Given the description of an element on the screen output the (x, y) to click on. 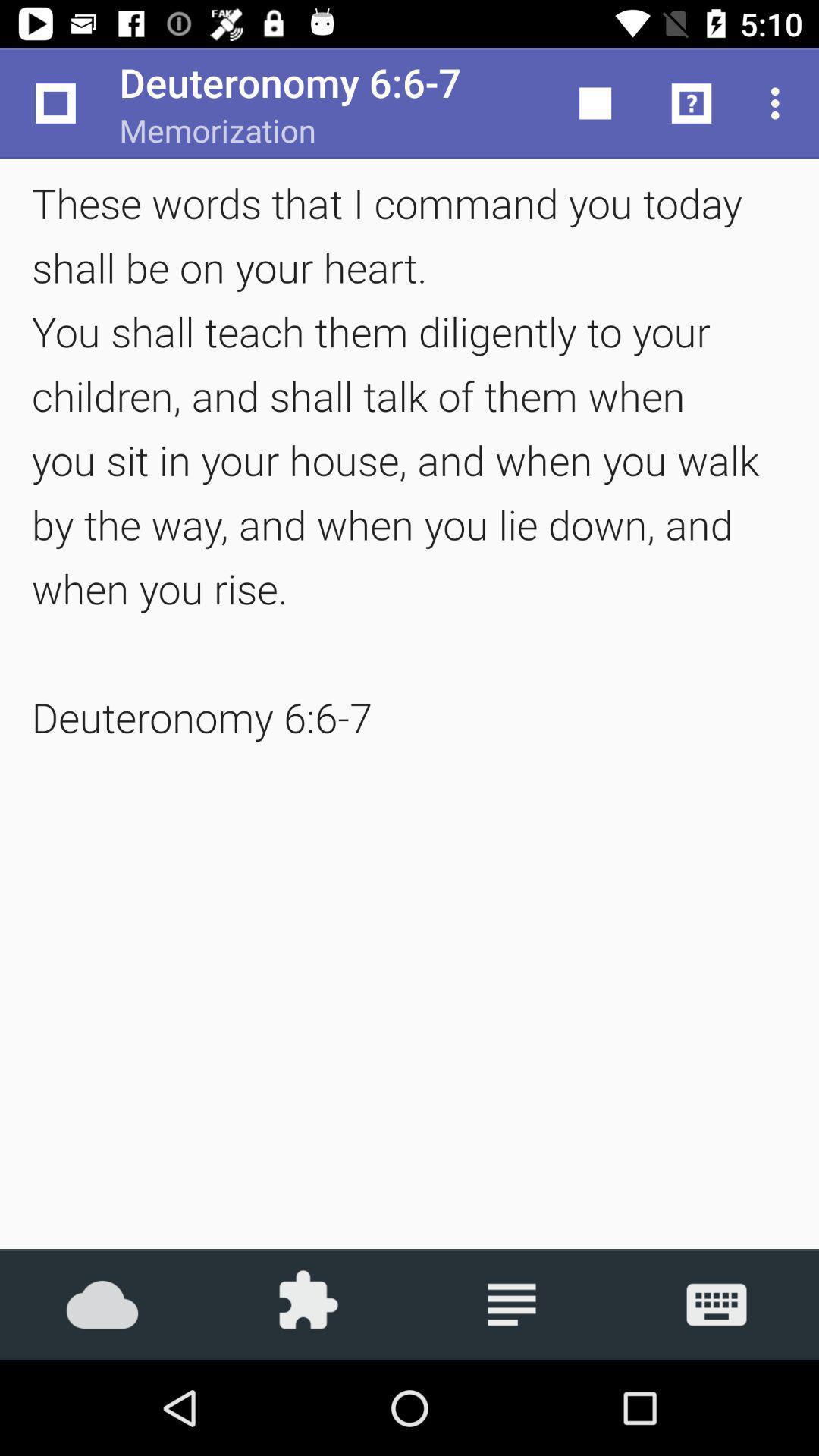
select the item below the these words that item (511, 1304)
